Given the description of an element on the screen output the (x, y) to click on. 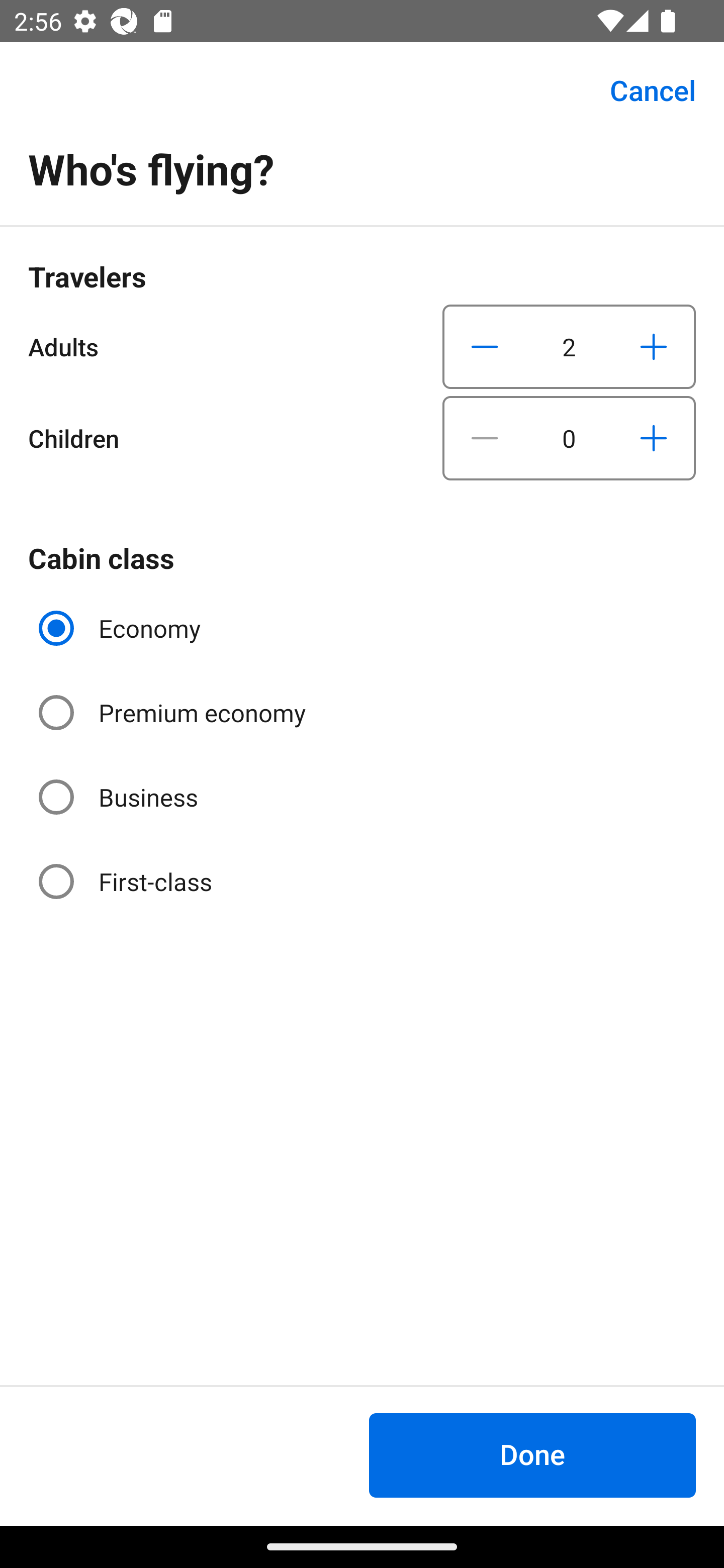
Cancel (641, 90)
Decrease (484, 346)
Increase (653, 346)
Decrease (484, 437)
Increase (653, 437)
Economy (121, 628)
Premium economy (174, 712)
Business (120, 796)
First-class (126, 880)
Done (532, 1454)
